Given the description of an element on the screen output the (x, y) to click on. 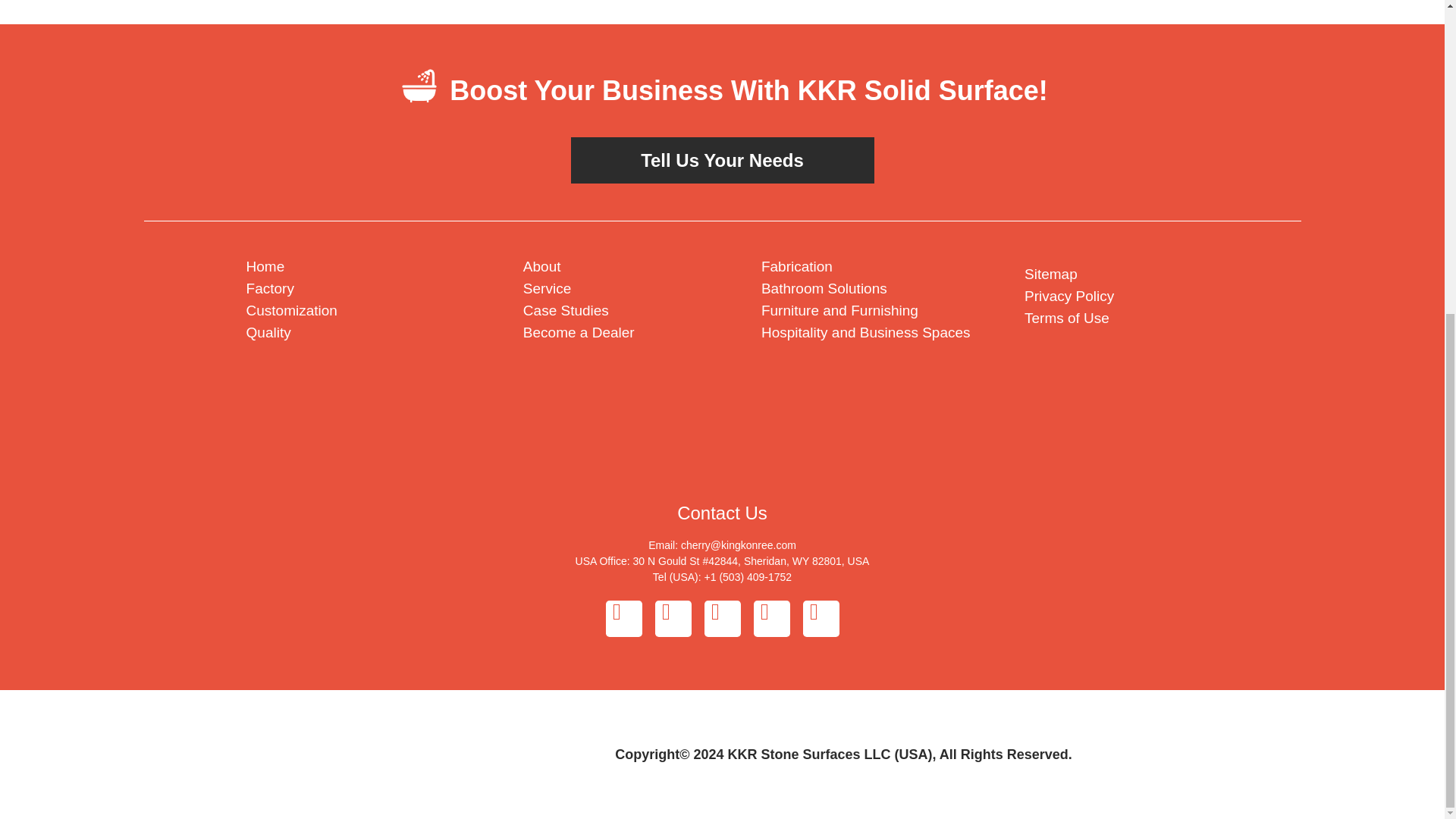
DMCA.com Protection Status (1138, 386)
